Given the description of an element on the screen output the (x, y) to click on. 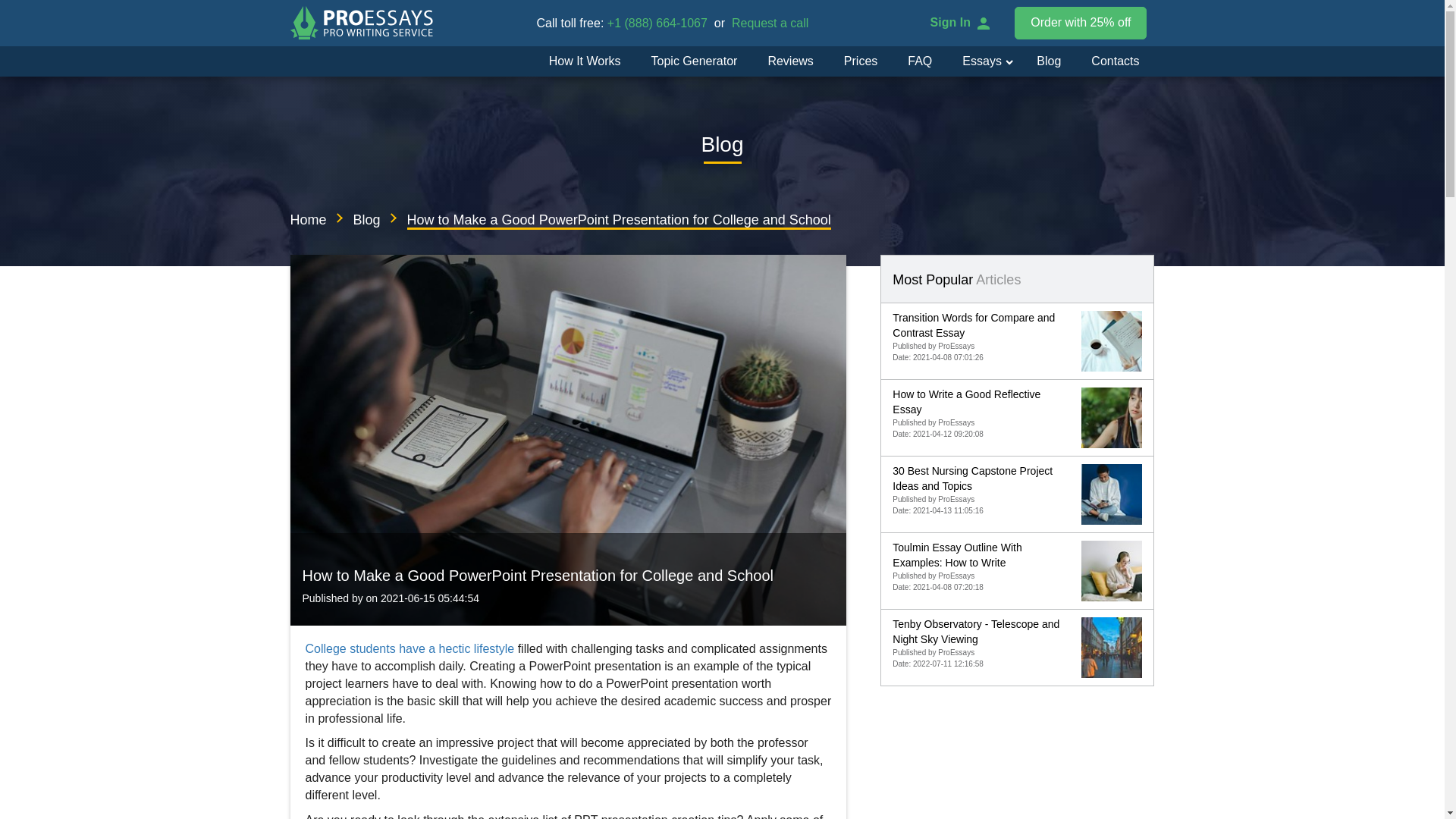
FAQ (919, 60)
Prices (860, 60)
Contacts (1114, 60)
Reviews (790, 60)
Topic Generator (694, 60)
Essays (975, 60)
How It Works (585, 60)
Blog (1048, 60)
